Given the description of an element on the screen output the (x, y) to click on. 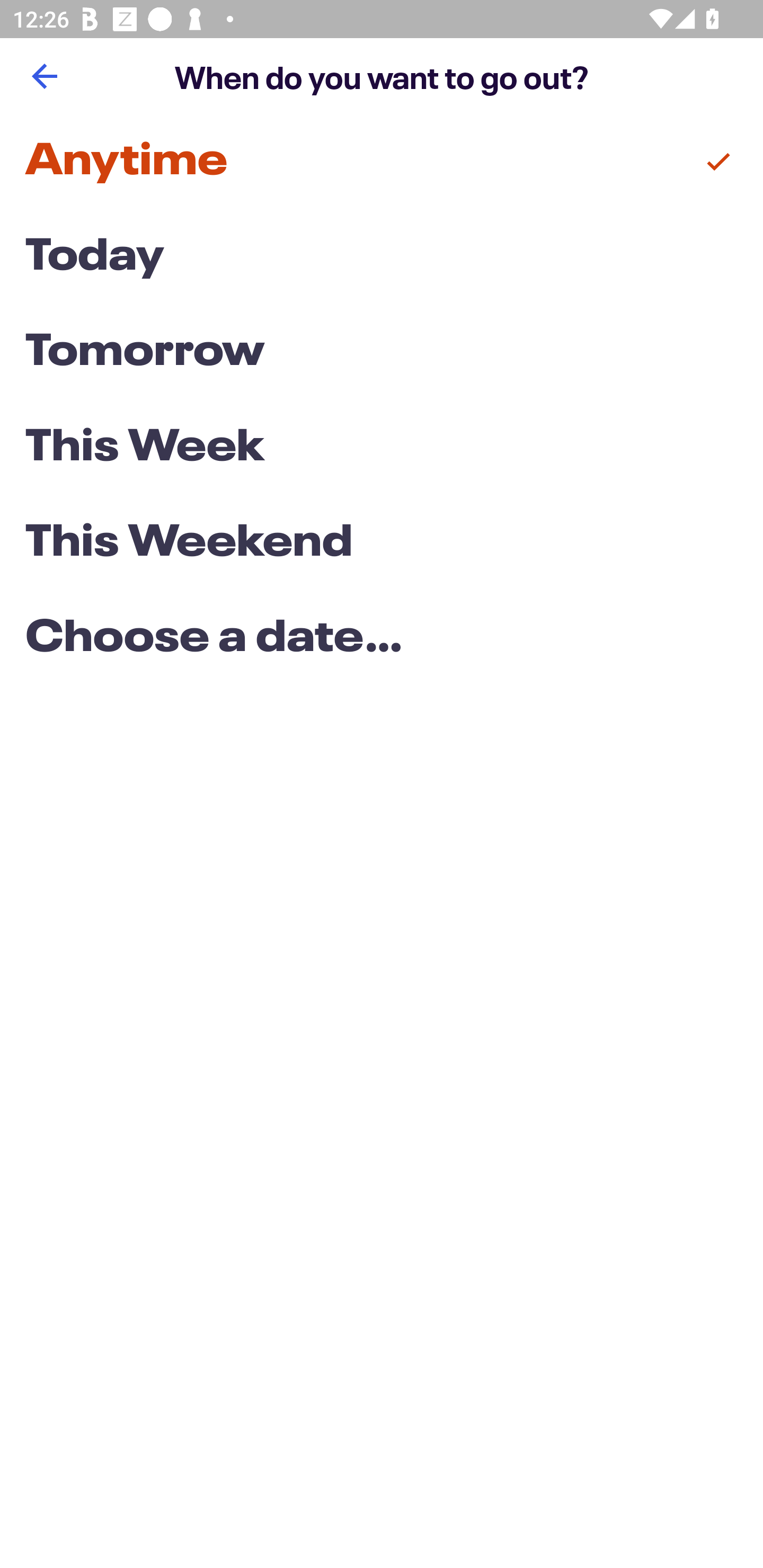
Back button (44, 75)
Anytime (381, 161)
Today (381, 257)
Tomorrow (381, 352)
This Week (381, 447)
This Weekend (381, 542)
Choose a date… (381, 638)
